Given the description of an element on the screen output the (x, y) to click on. 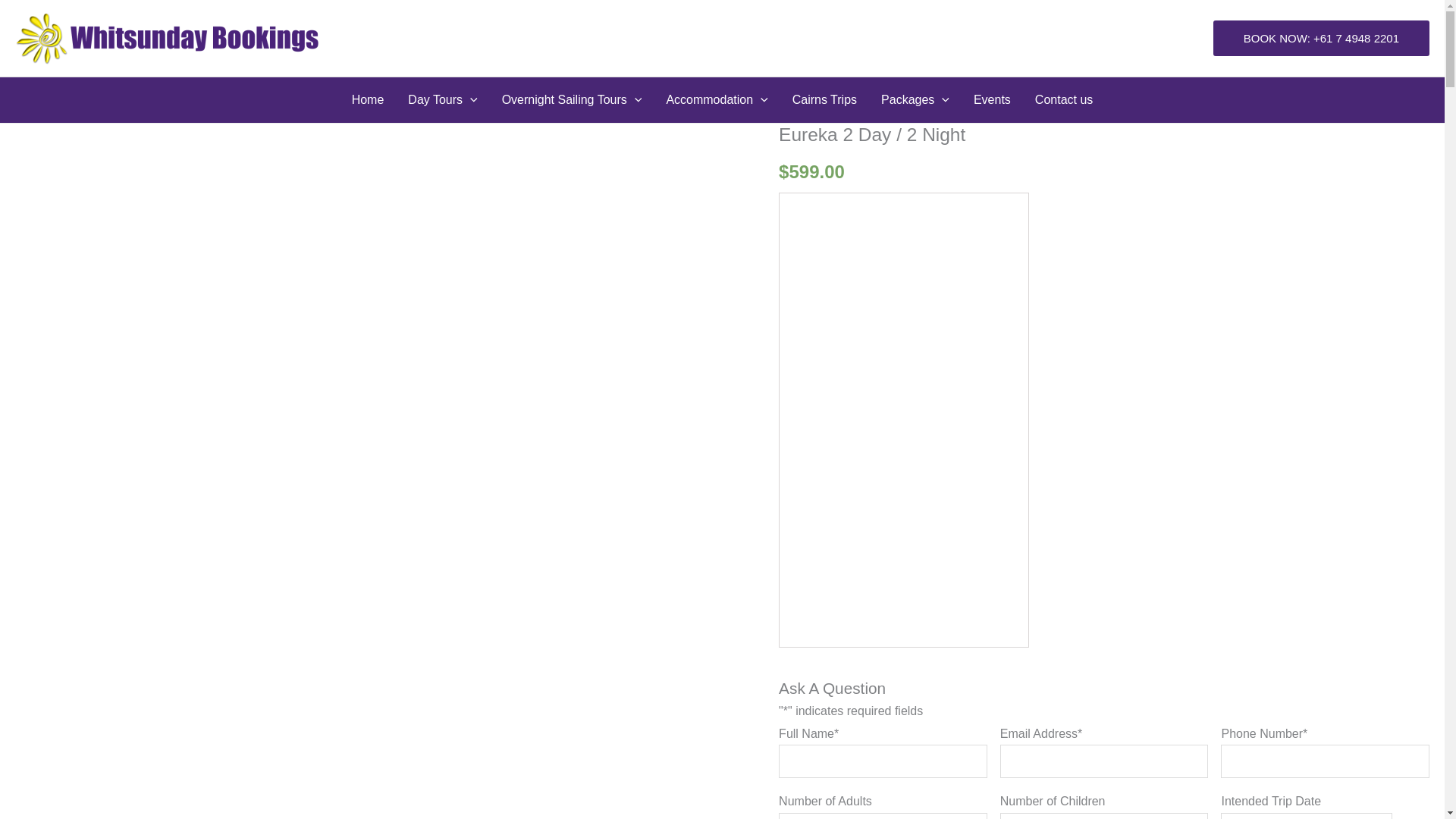
Accommodation (715, 99)
Packages (914, 99)
Home (367, 99)
Cairns Trips (824, 99)
Overnight Sailing Tours (571, 99)
Day Tours (442, 99)
